Given the description of an element on the screen output the (x, y) to click on. 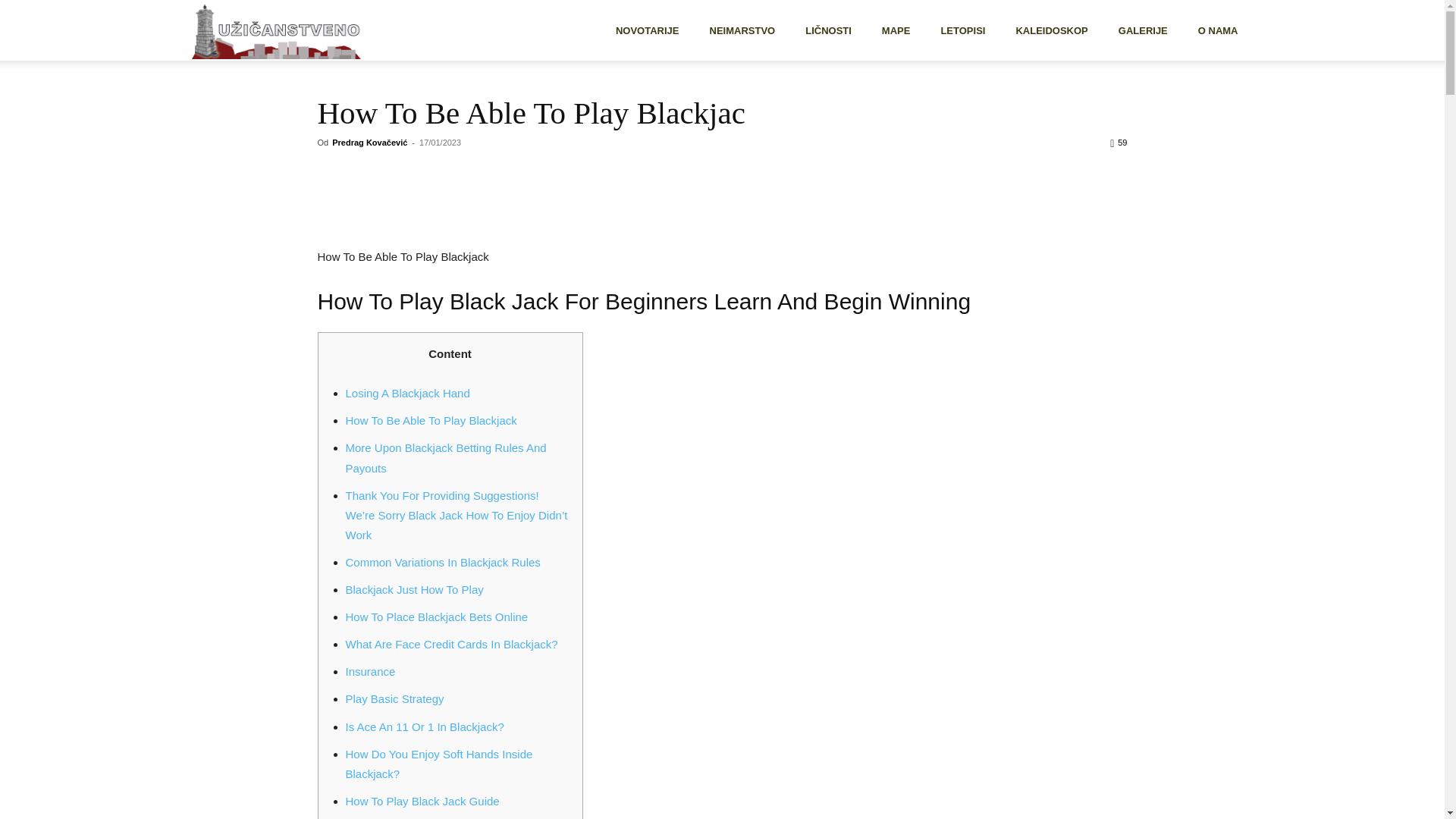
How To Place Blackjack Bets Online (437, 616)
GALERIJE (1142, 30)
Common Variations In Blackjack Rules (443, 562)
What Are Face Credit Cards In Blackjack? (451, 644)
O NAMA (1218, 30)
KALEIDOSKOP (1050, 30)
Is Ace An 11 Or 1 In Blackjack? (424, 726)
How To Be Able To Play Blackjack (431, 420)
Blackjack Just How To Play (414, 589)
Insurance (371, 671)
